Given the description of an element on the screen output the (x, y) to click on. 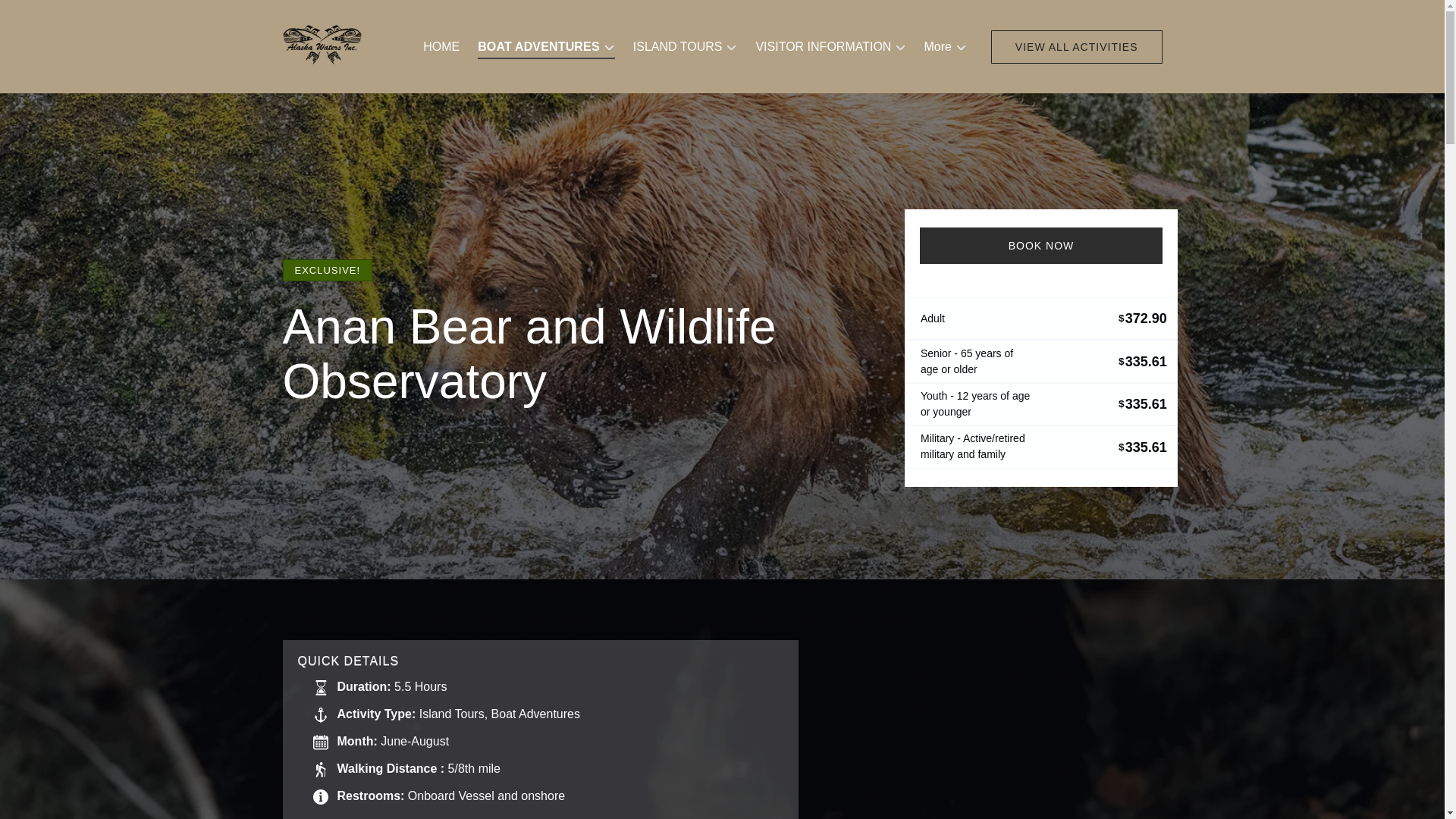
HOME (440, 46)
Open More Menu (948, 42)
Skip to footer (42, 16)
ISLAND TOURS (685, 46)
BOOK NOW (1039, 245)
Calendar (320, 742)
Open ISLAND TOURS Menu (688, 42)
VIEW ALL ACTIVITIES (1076, 46)
Open BOAT ADVENTURES Menu (550, 42)
Skip to primary navigation (77, 16)
Hiking (320, 769)
VISITOR INFORMATION (830, 46)
Hour Glass (320, 687)
BOAT ADVENTURES (546, 46)
Info (320, 796)
